Given the description of an element on the screen output the (x, y) to click on. 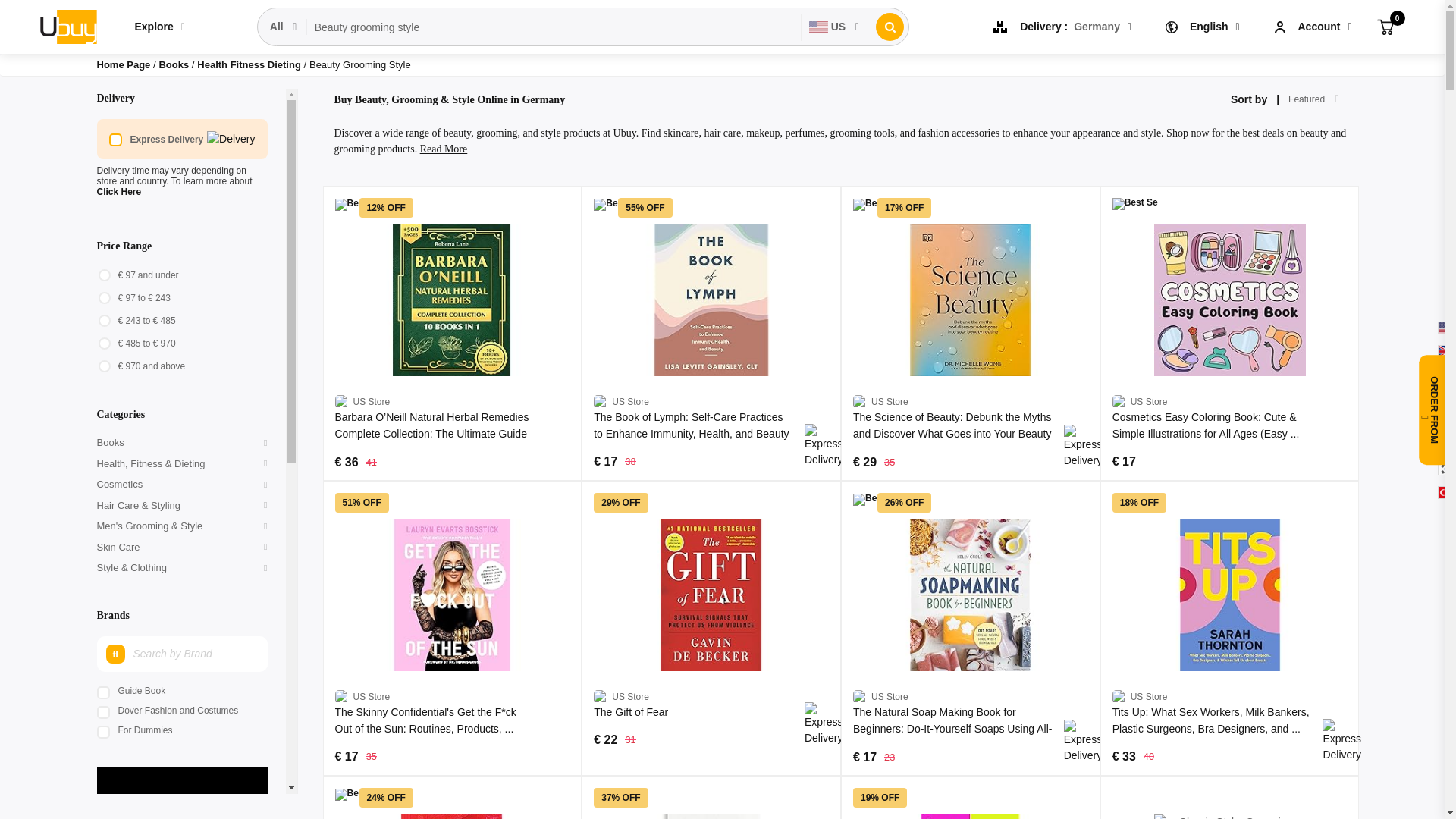
Beauty grooming style (553, 26)
0 (1385, 26)
Home Page (124, 64)
US (834, 26)
Books (174, 64)
Beauty grooming style (553, 26)
All (283, 26)
Home Page (124, 64)
Ubuy (67, 26)
Cart (1385, 26)
